Given the description of an element on the screen output the (x, y) to click on. 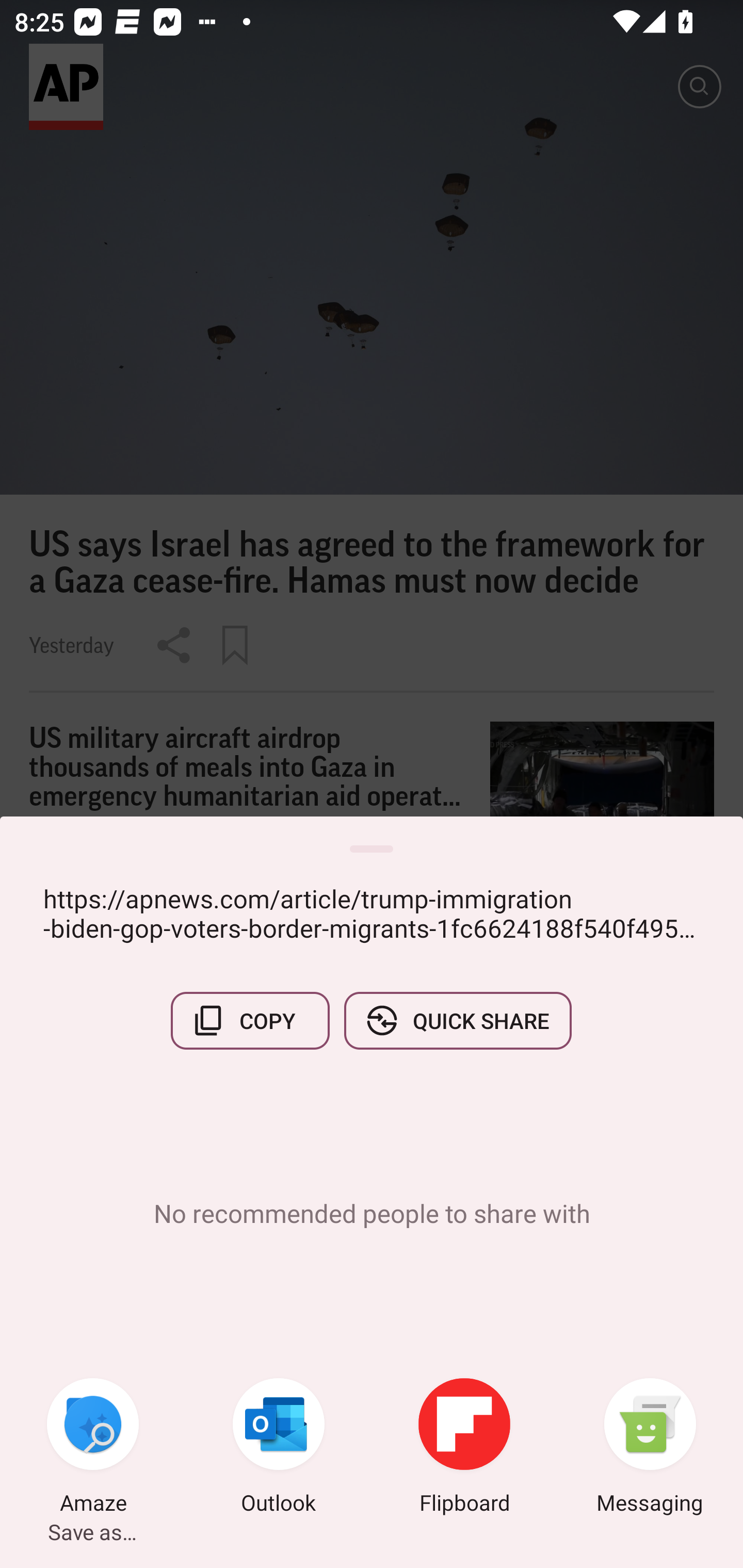
COPY (249, 1020)
QUICK SHARE (457, 1020)
Amaze Save as… (92, 1448)
Outlook (278, 1448)
Flipboard (464, 1448)
Messaging (650, 1448)
